Given the description of an element on the screen output the (x, y) to click on. 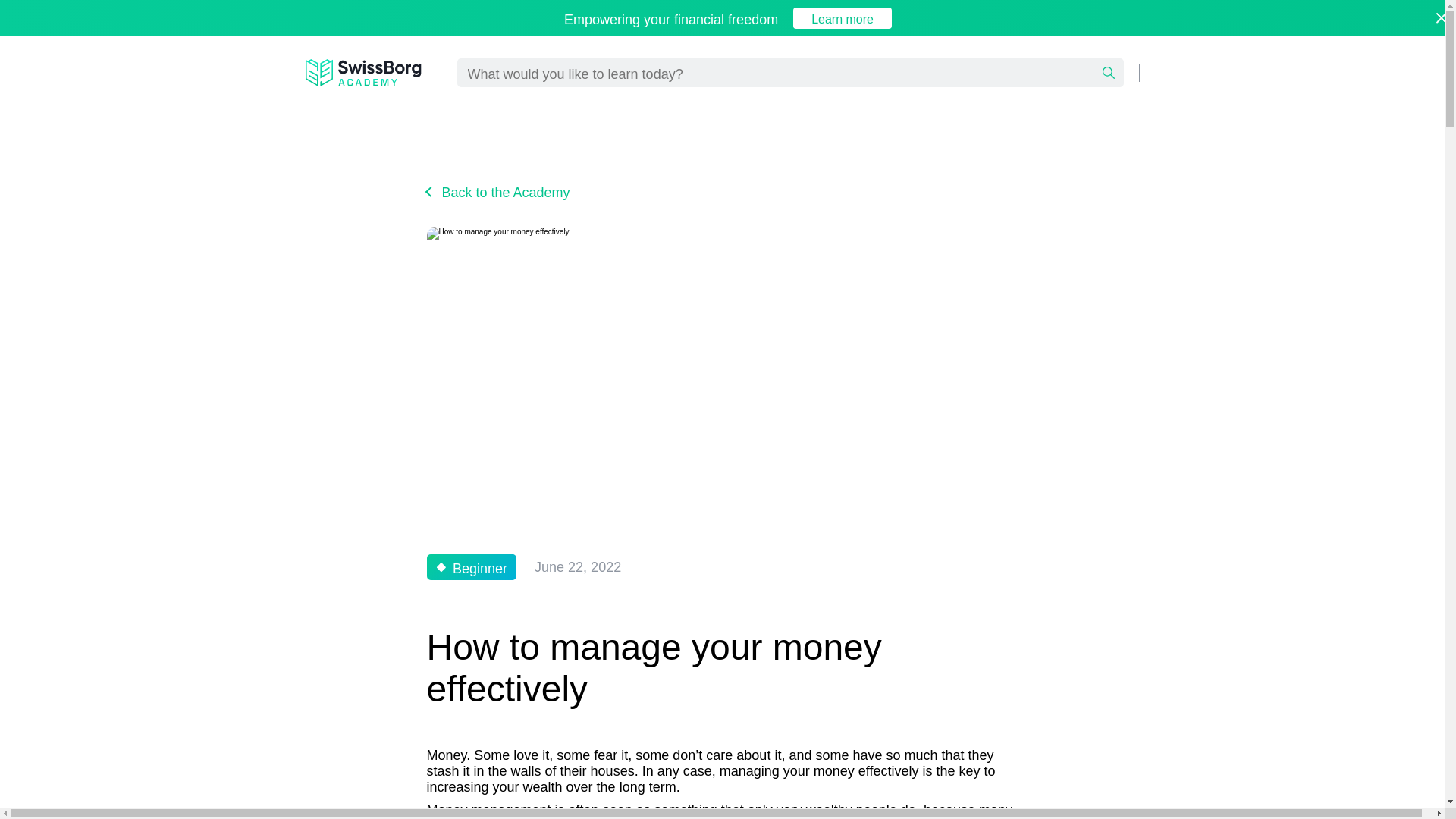
Learn more (842, 17)
Back to the Academy (497, 191)
